Given the description of an element on the screen output the (x, y) to click on. 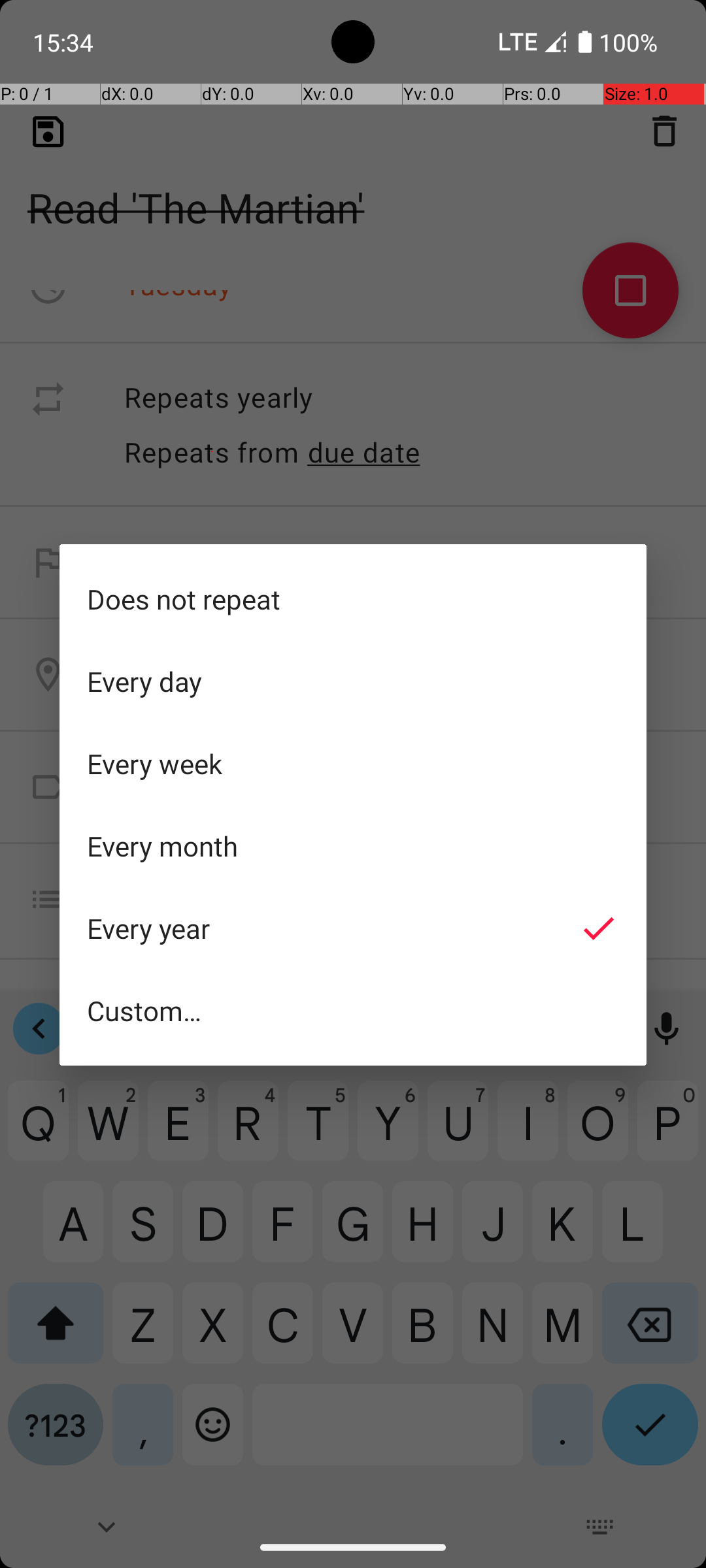
Every day Element type: android.widget.CheckedTextView (352, 681)
Every week Element type: android.widget.CheckedTextView (352, 763)
Every month Element type: android.widget.CheckedTextView (352, 845)
Every year Element type: android.widget.CheckedTextView (352, 928)
Custom… Element type: android.widget.CheckedTextView (352, 1010)
